Given the description of an element on the screen output the (x, y) to click on. 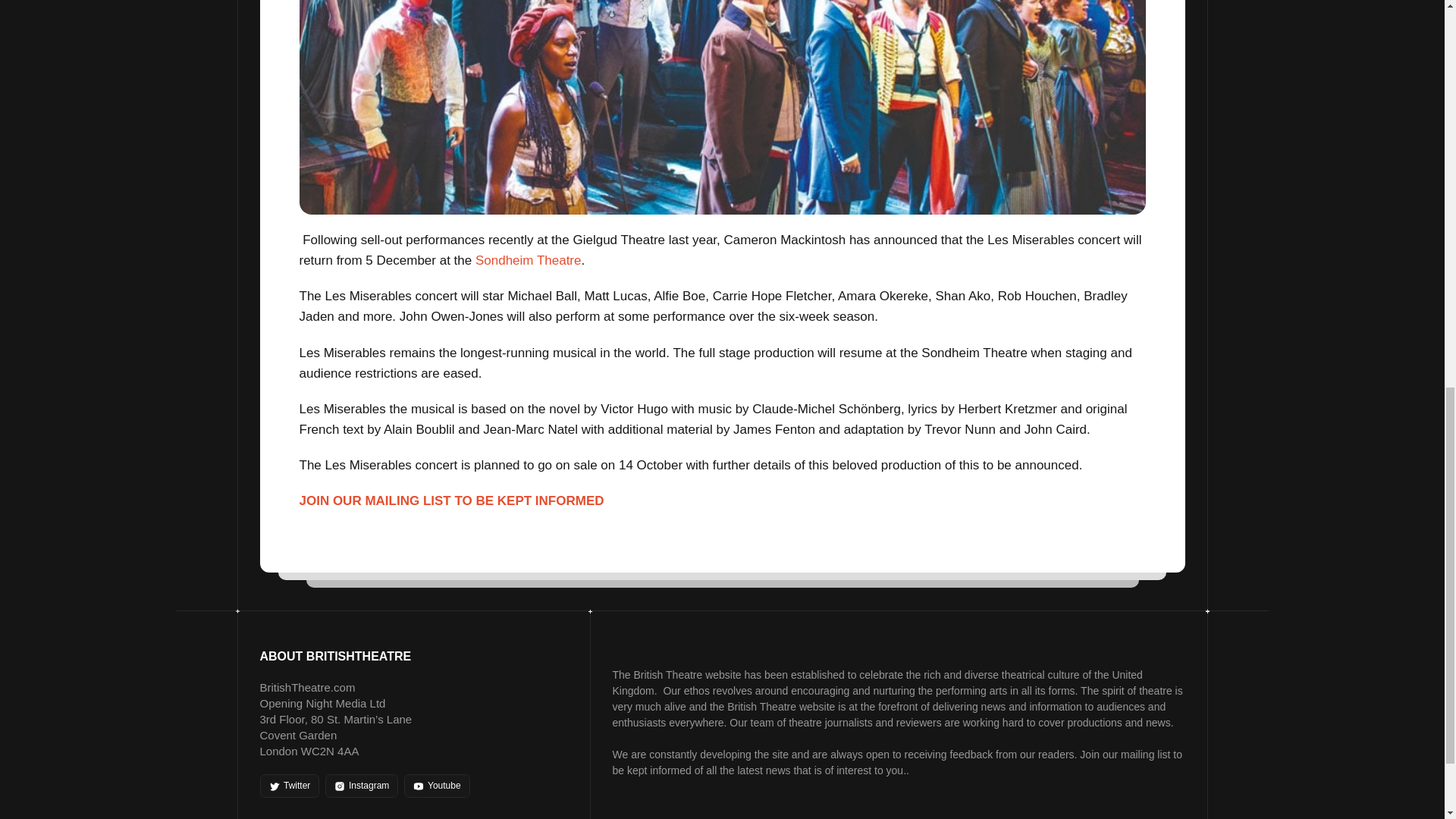
JOIN OUR MAILING LIST TO BE KEPT INFORMED  (452, 500)
Twitter (288, 785)
Sondheim Theatre (528, 260)
Youtube (437, 785)
Instagram (360, 785)
